Given the description of an element on the screen output the (x, y) to click on. 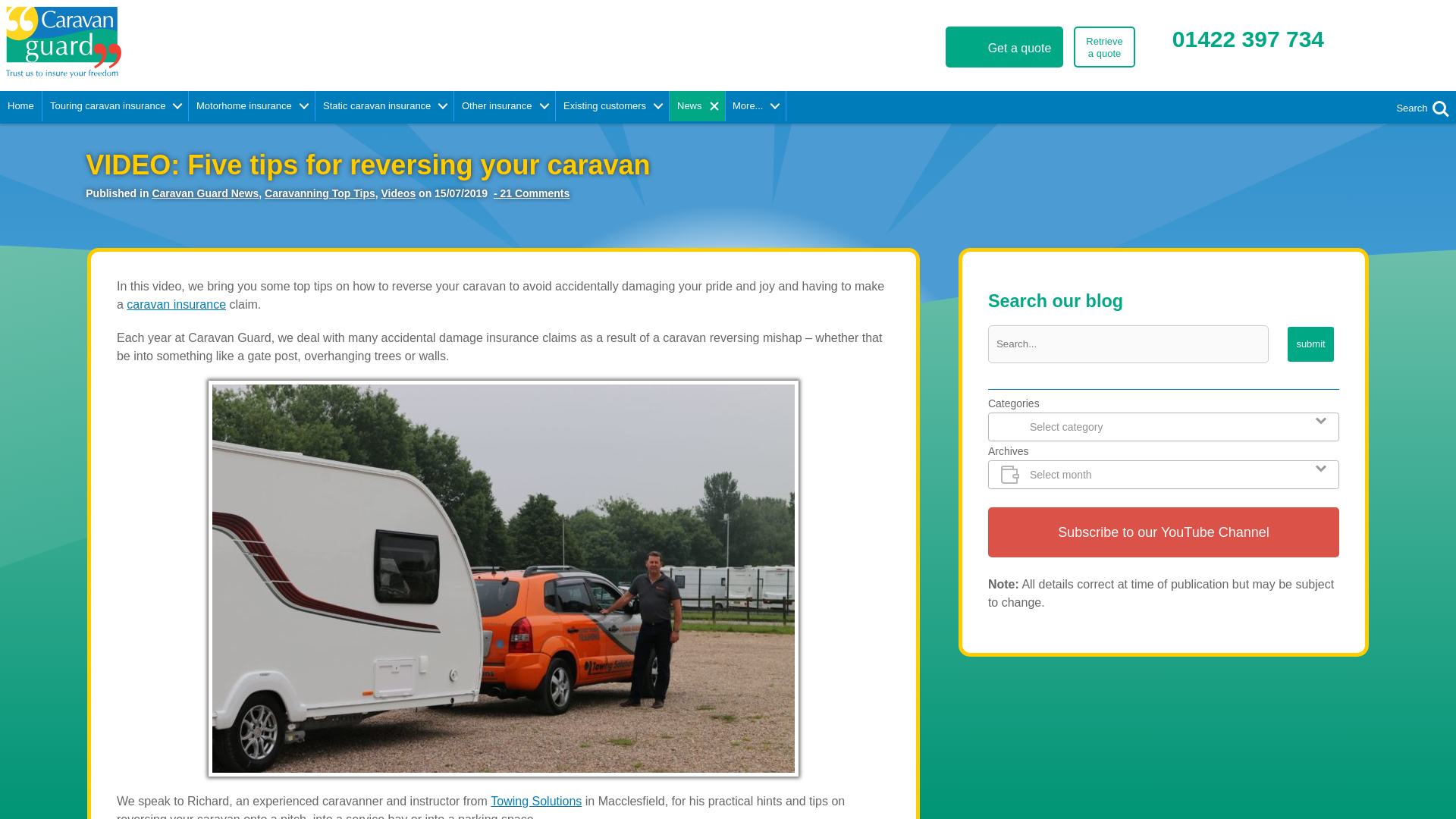
01422 397 734 (1247, 38)
Caravan Guard (222, 42)
submit (1310, 344)
Search (1439, 108)
quote (1004, 46)
Home (21, 105)
Seek professional assistance when reversing a caravan (1104, 46)
